Given the description of an element on the screen output the (x, y) to click on. 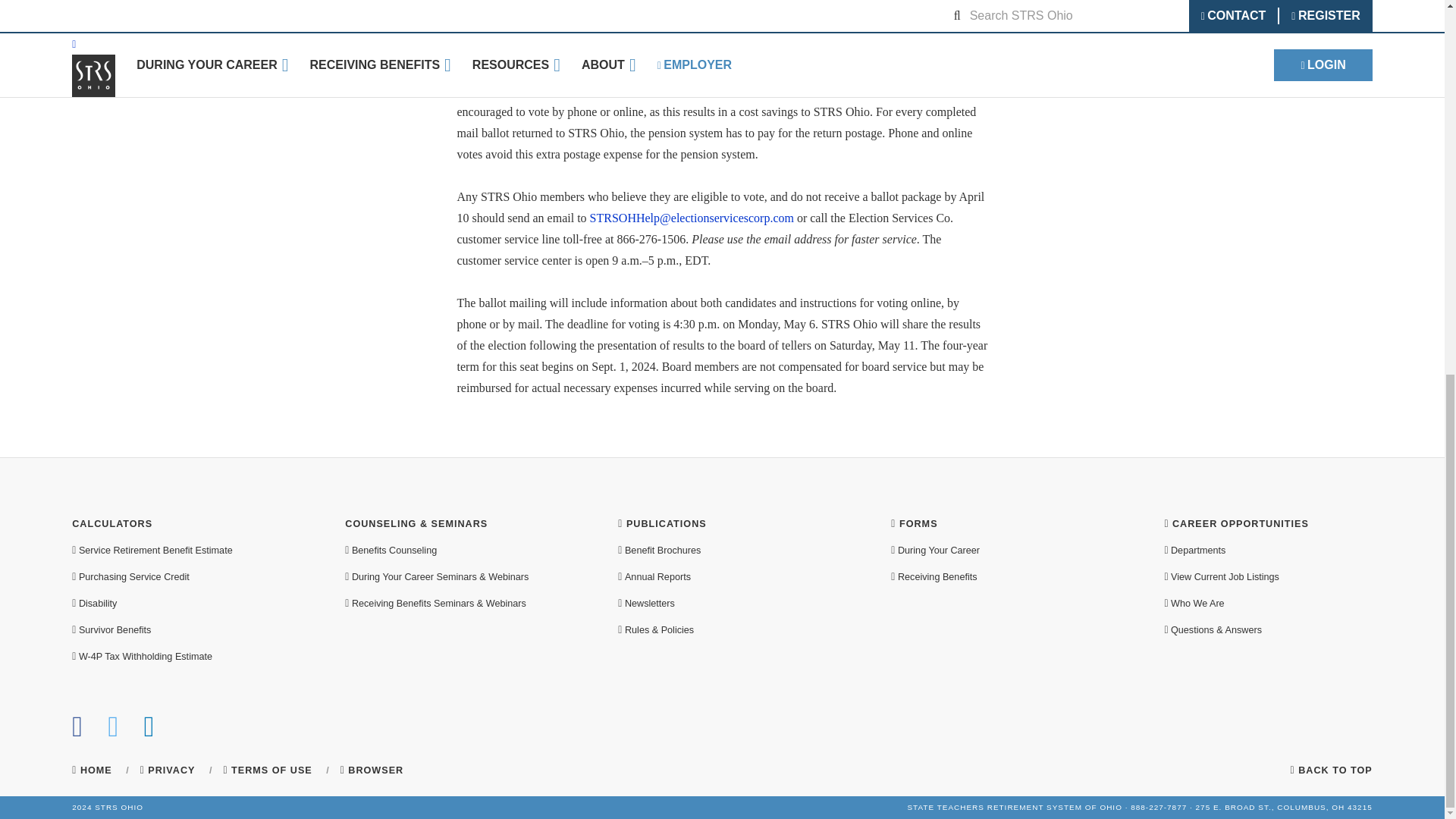
STRSOhio Facebook (76, 733)
STRSOhio Twitter (113, 733)
STRSOhio LinkedIn (149, 733)
